Given the description of an element on the screen output the (x, y) to click on. 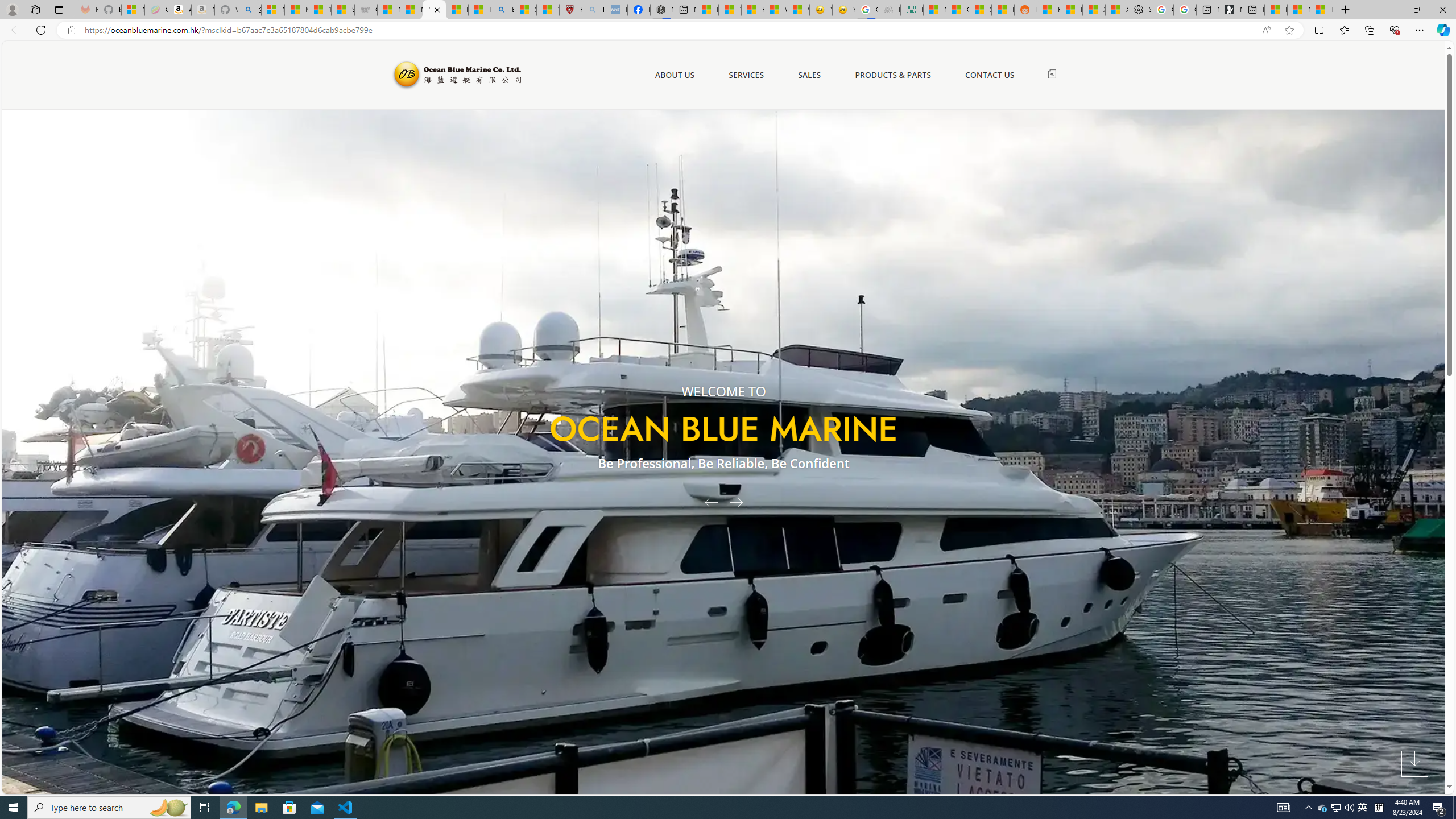
Robert H. Shmerling, MD - Harvard Health (570, 9)
Ocean Blue Marine (455, 74)
Navy Quest (889, 9)
Fitness - MSN (752, 9)
Science - MSN (525, 9)
